Given the description of an element on the screen output the (x, y) to click on. 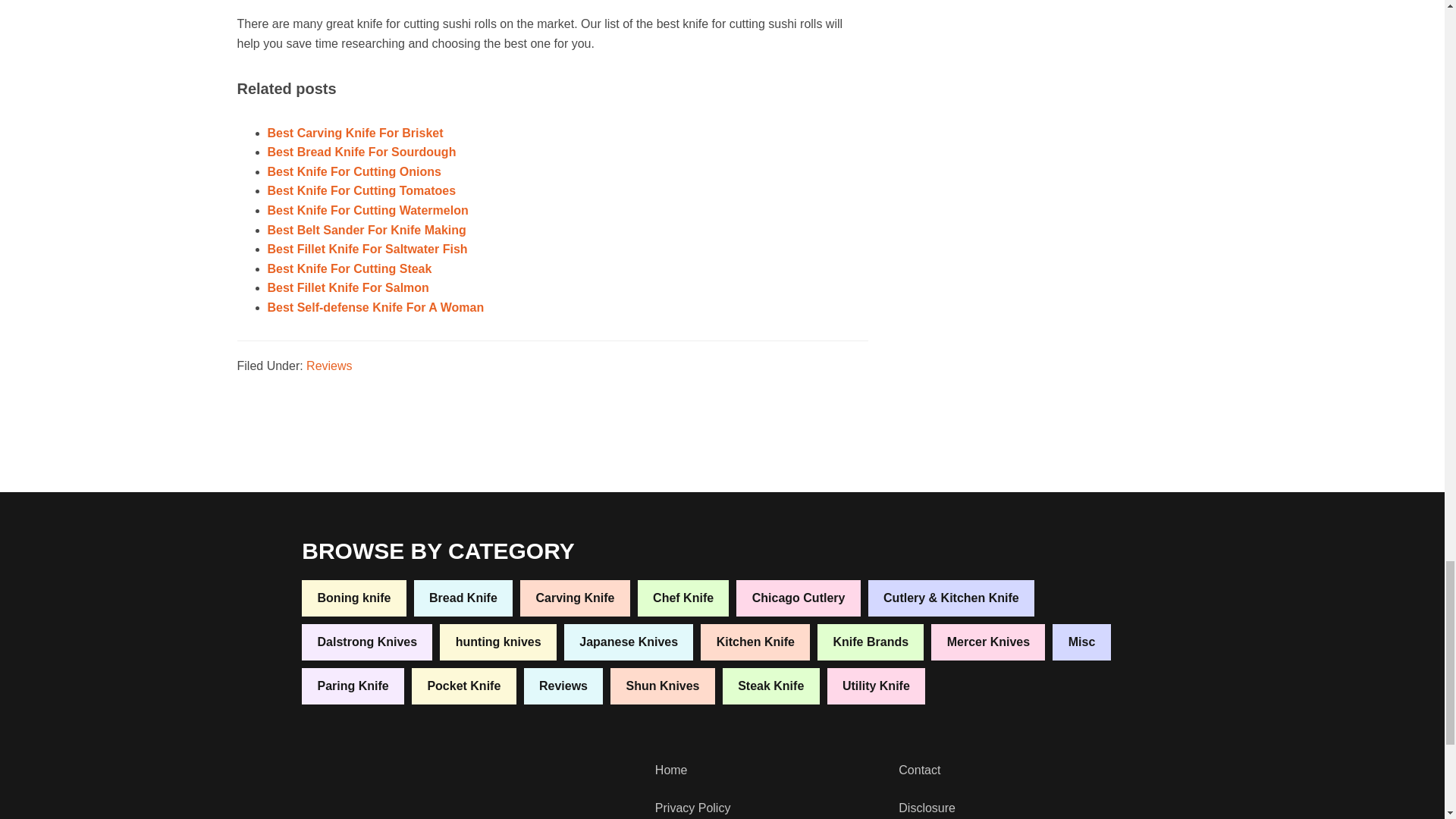
Best Knife For Cutting Onions (353, 171)
Best Knife For Cutting Onions (353, 171)
Best Knife For Cutting Tomatoes (360, 190)
Reviews (328, 365)
Best Carving Knife For Brisket (354, 132)
Best Bread Knife For Sourdough (360, 151)
Best Knife For Cutting Steak (348, 268)
Best Belt Sander For Knife Making (365, 229)
Best Knife For Cutting Tomatoes (360, 190)
Best Knife For Cutting Watermelon (366, 210)
